Given the description of an element on the screen output the (x, y) to click on. 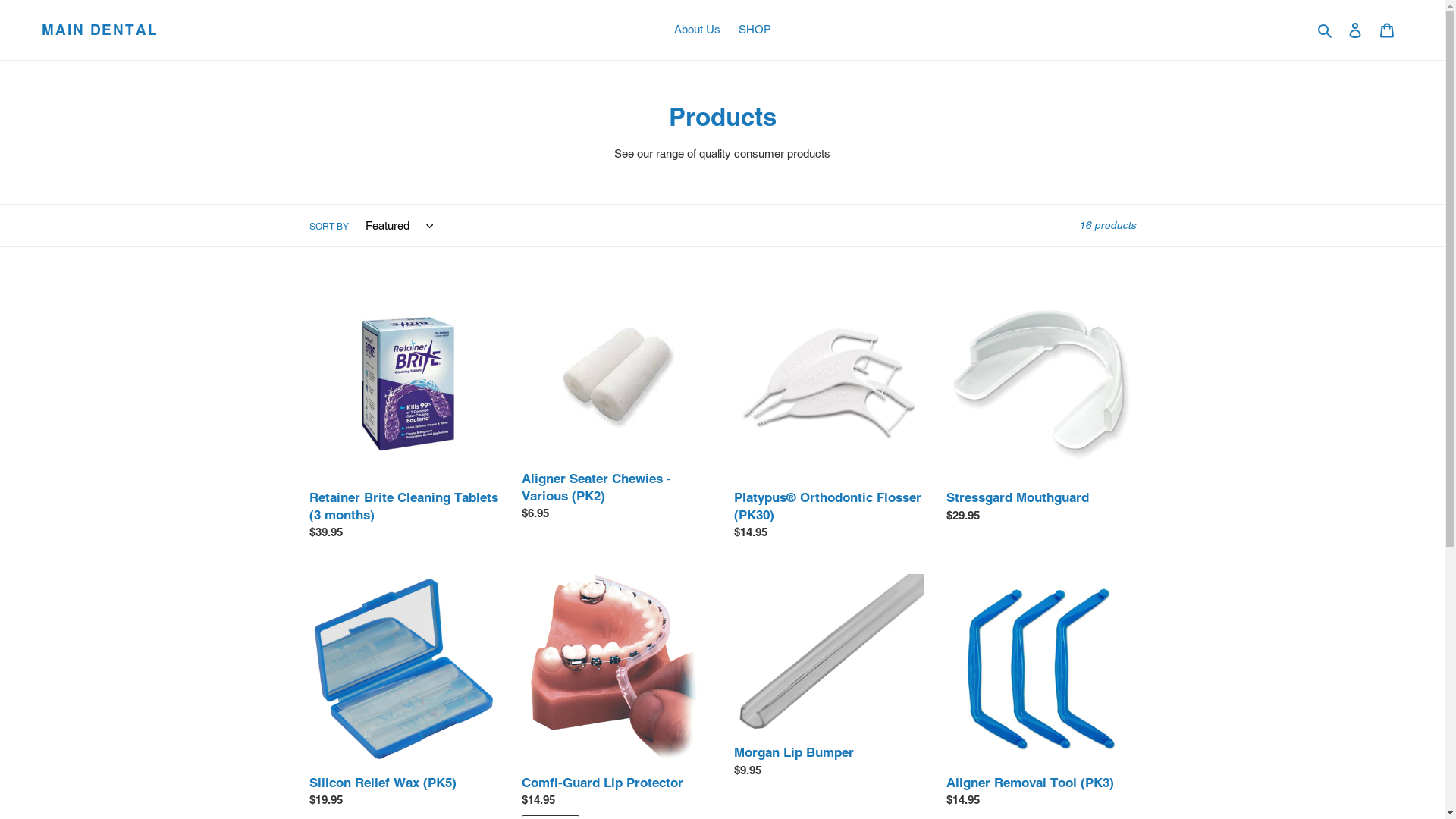
Log in Element type: text (1355, 29)
Aligner Seater Chewies - Various (PK2) Element type: text (616, 408)
MAIN DENTAL Element type: text (99, 29)
Morgan Lip Bumper Element type: text (828, 679)
Stressgard Mouthguard Element type: text (1040, 409)
Retainer Brite Cleaning Tablets (3 months) Element type: text (403, 417)
Silicon Relief Wax (PK5) Element type: text (403, 694)
Aligner Removal Tool (PK3) Element type: text (1040, 694)
SHOP Element type: text (754, 29)
Cart Element type: text (1386, 29)
Search Element type: text (1325, 29)
About Us Element type: text (696, 29)
